Given the description of an element on the screen output the (x, y) to click on. 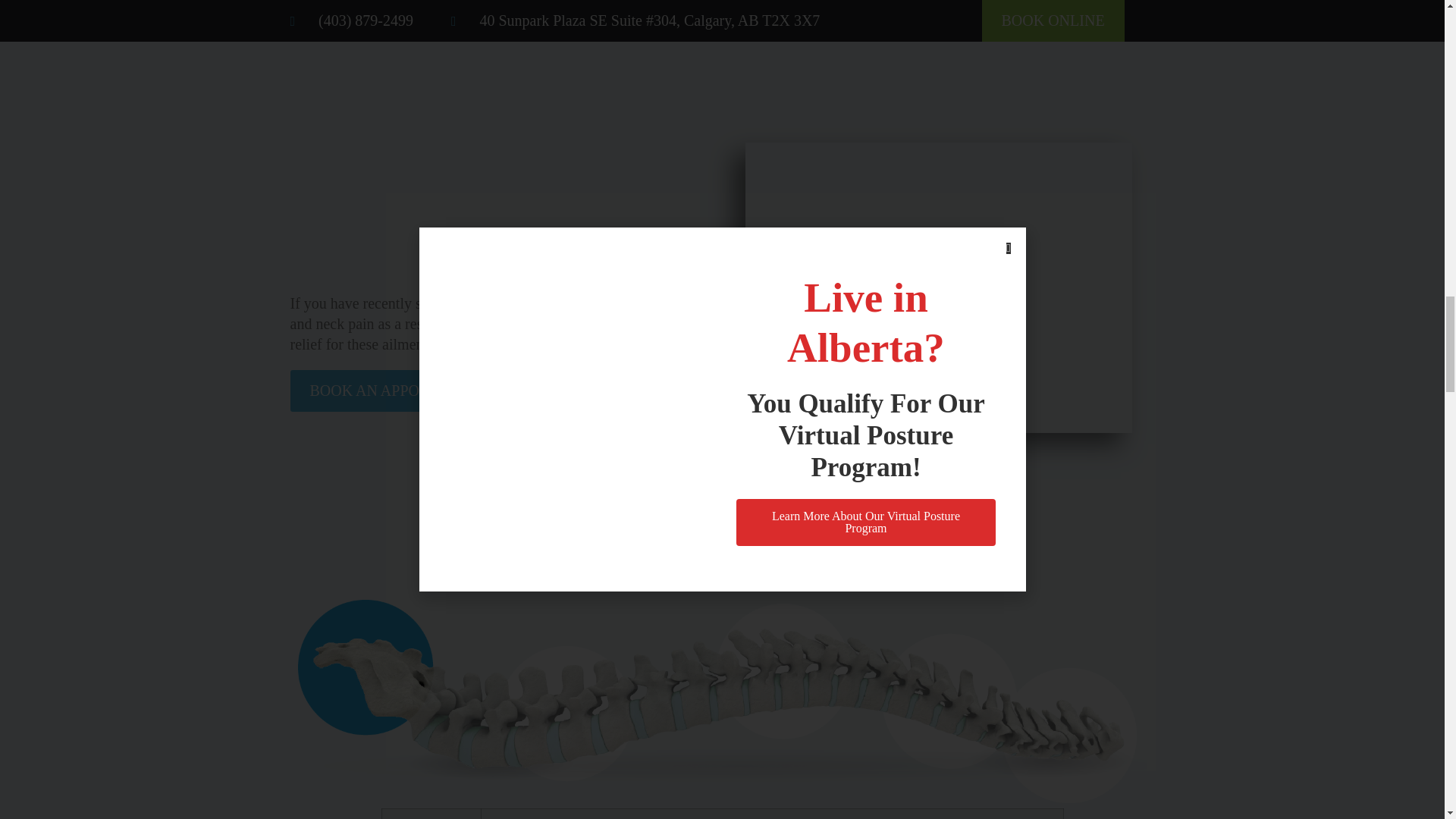
BOOK AN APPOINTMENT (397, 390)
